Given the description of an element on the screen output the (x, y) to click on. 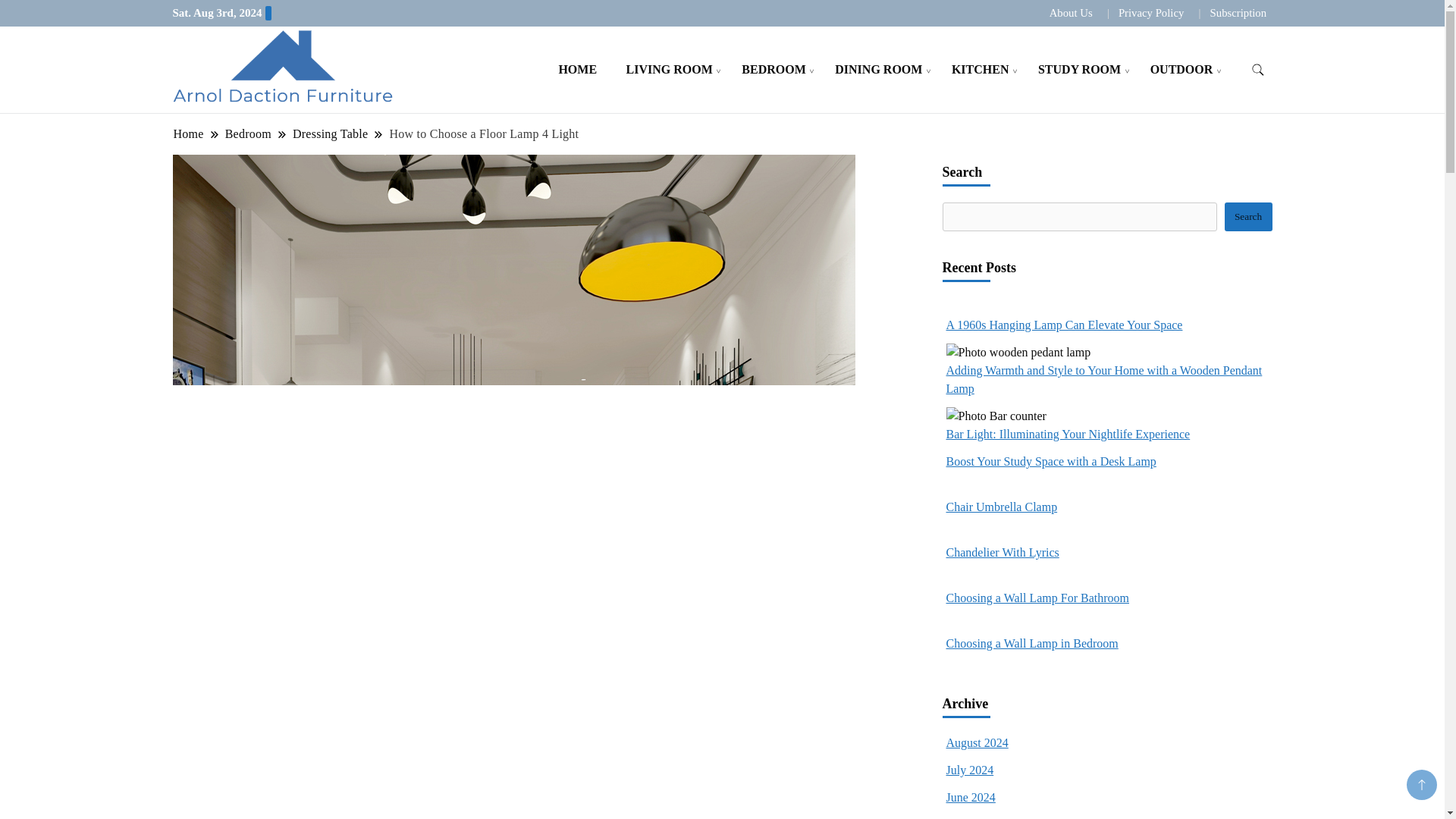
BEDROOM (773, 69)
HOME (577, 69)
STUDY ROOM (1079, 69)
KITCHEN (980, 69)
Privacy Policy (1150, 12)
Arnol Daction Furniture (496, 86)
About Us (1071, 12)
DINING ROOM (878, 69)
Subscription (1237, 12)
LIVING ROOM (668, 69)
